Given the description of an element on the screen output the (x, y) to click on. 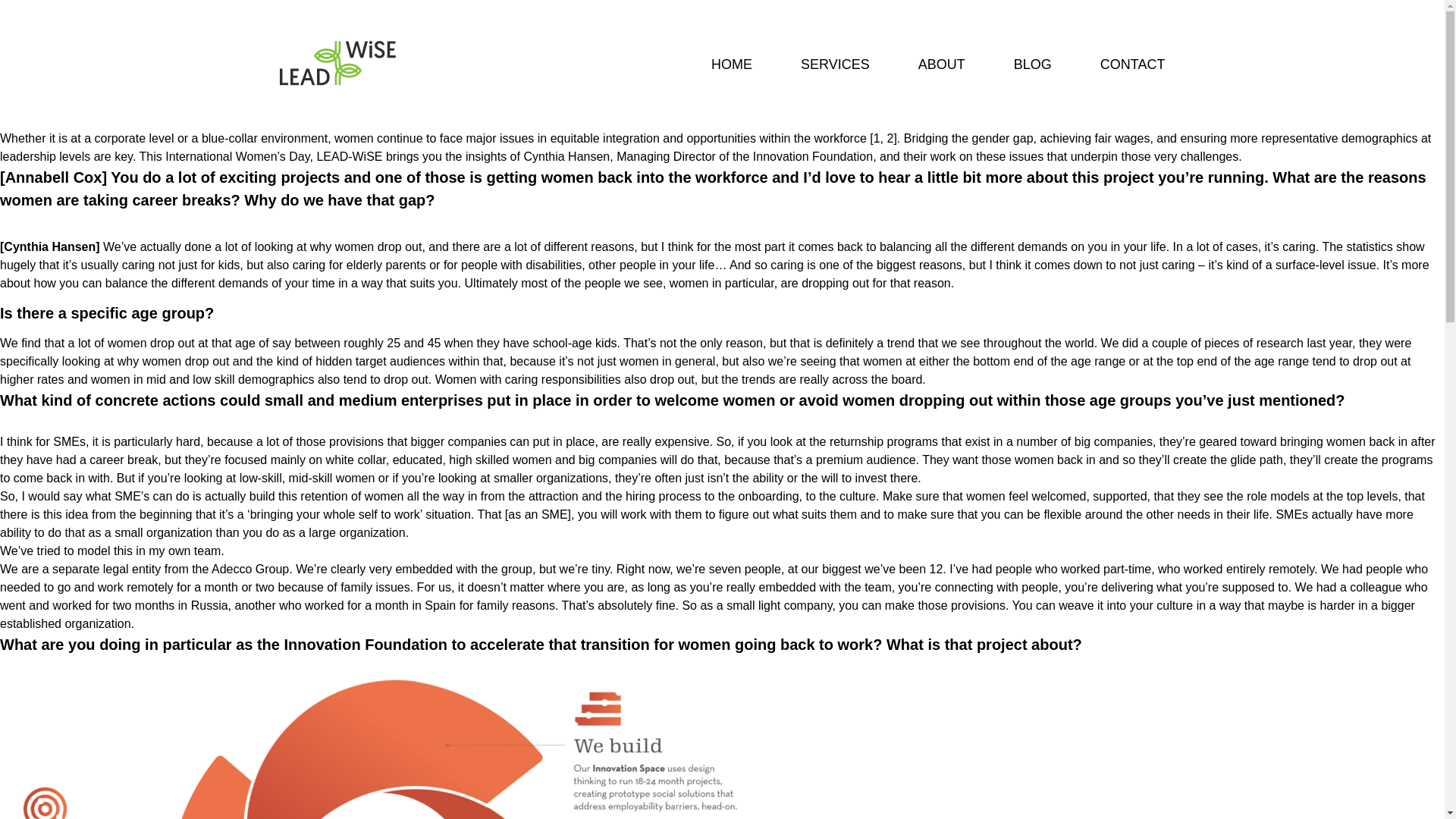
ABOUT (941, 64)
CONTACT (1133, 64)
SERVICES (834, 64)
BLOG (1032, 64)
HOME (731, 64)
